Given the description of an element on the screen output the (x, y) to click on. 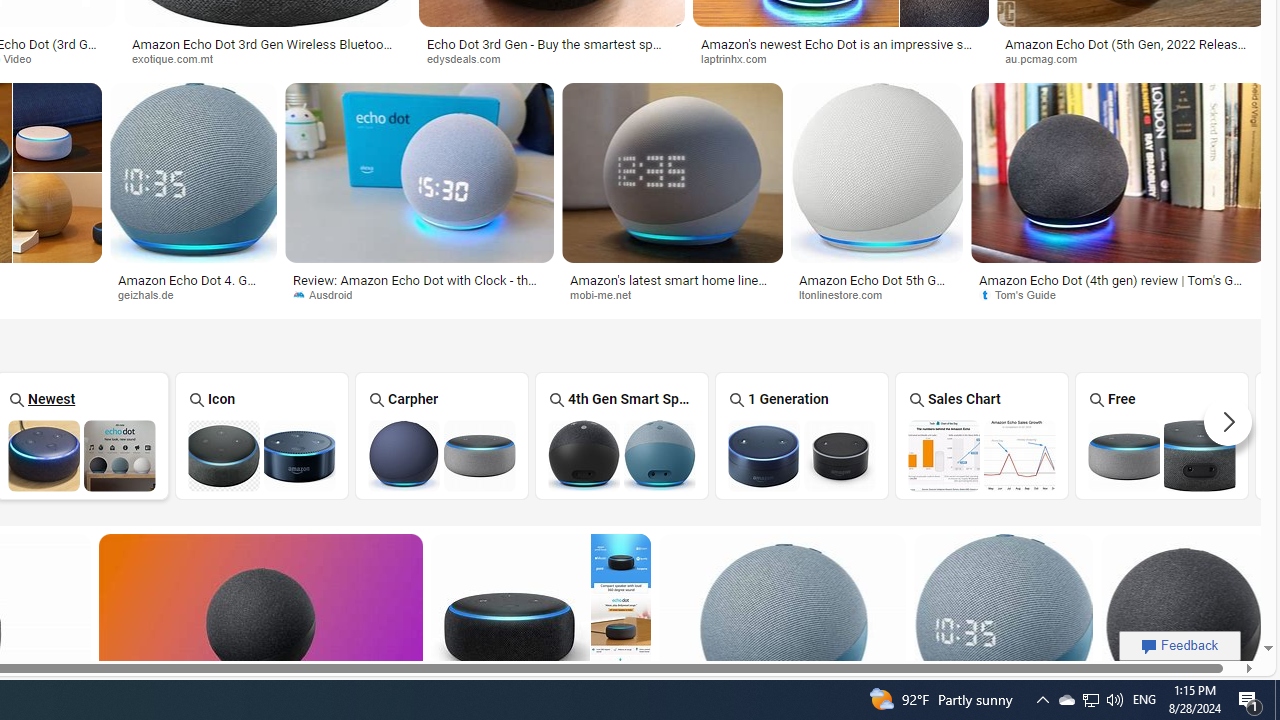
laptrinhx.com (740, 57)
Tom's Guide (1118, 295)
ltonlinestore.com (876, 295)
ltonlinestore.com (847, 294)
1 Generation (801, 435)
Amazon Echo Dot (4th gen) review | Tom's Guide (1118, 286)
laptrinhx.com (840, 58)
Carpher (441, 435)
